Given the description of an element on the screen output the (x, y) to click on. 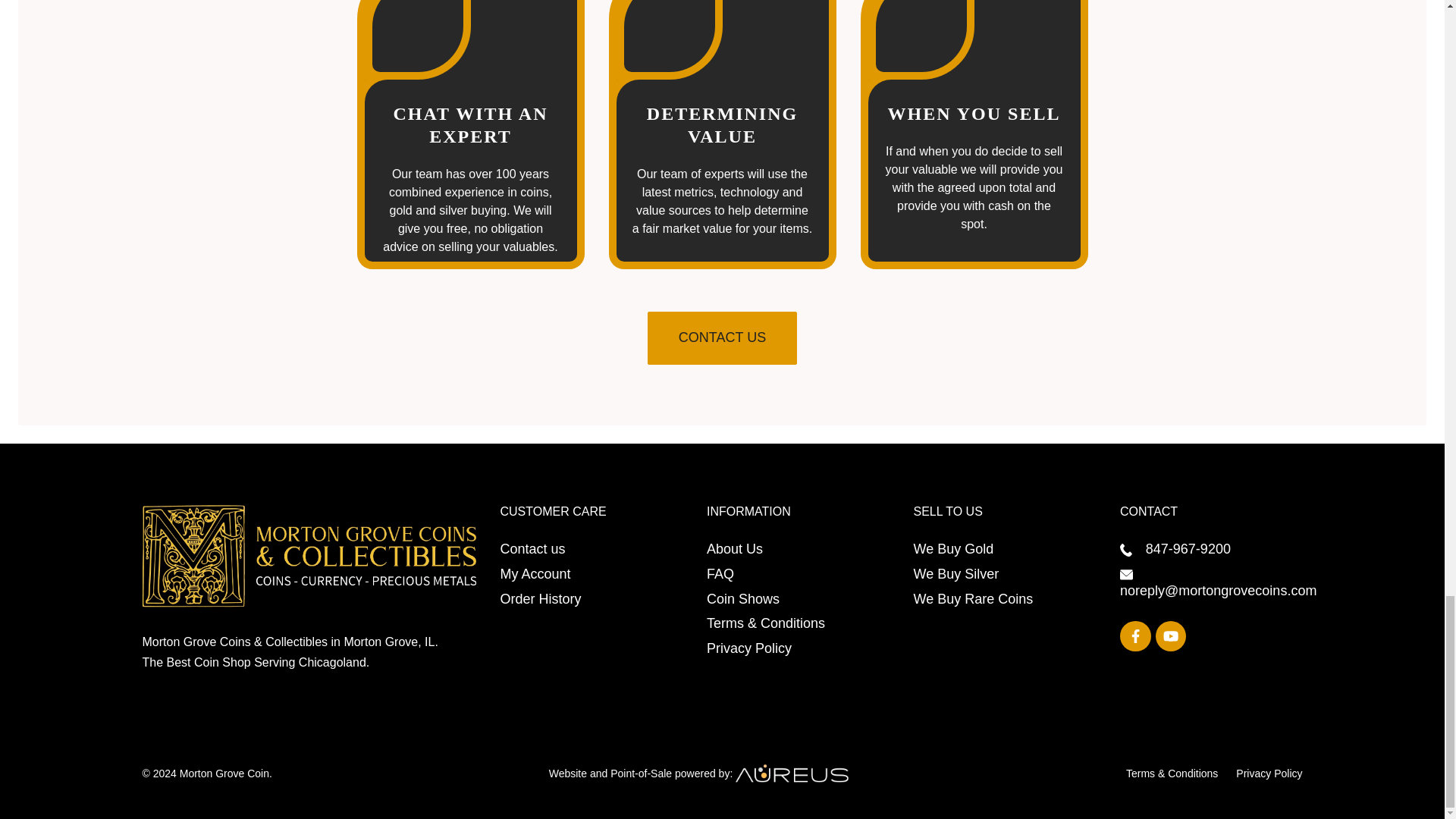
Order History (540, 598)
My Account (535, 573)
CONTACT US (721, 338)
Contact us (533, 548)
